Given the description of an element on the screen output the (x, y) to click on. 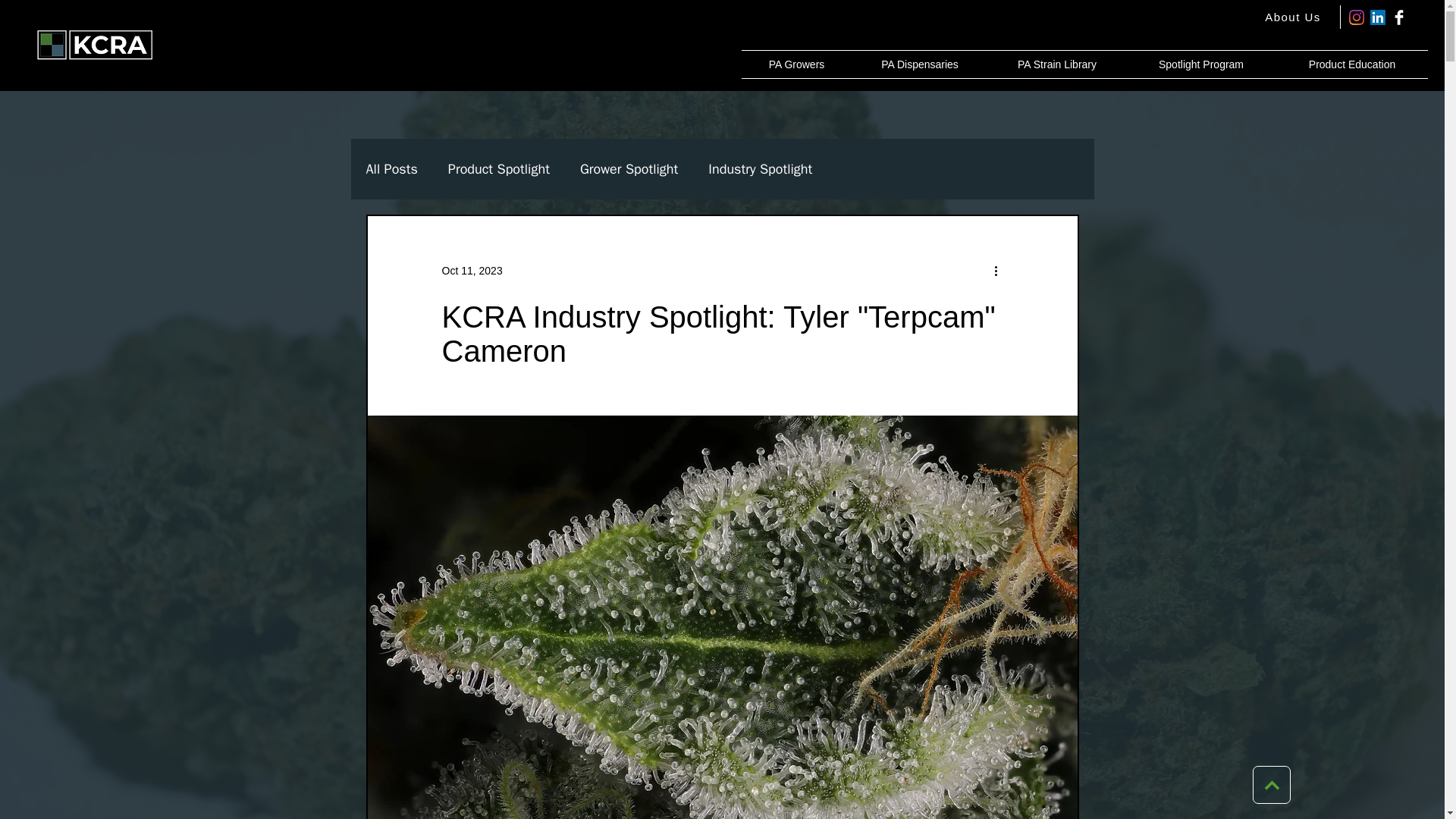
PA Strain Library (1056, 63)
PA Dispensaries (919, 63)
Spotlight Program (1200, 63)
Industry Spotlight (759, 168)
Grower Spotlight (628, 168)
Oct 11, 2023 (471, 269)
All Posts (390, 168)
Product Education (1352, 63)
Product Spotlight (499, 168)
About Us (1293, 16)
PA Growers (796, 63)
